Given the description of an element on the screen output the (x, y) to click on. 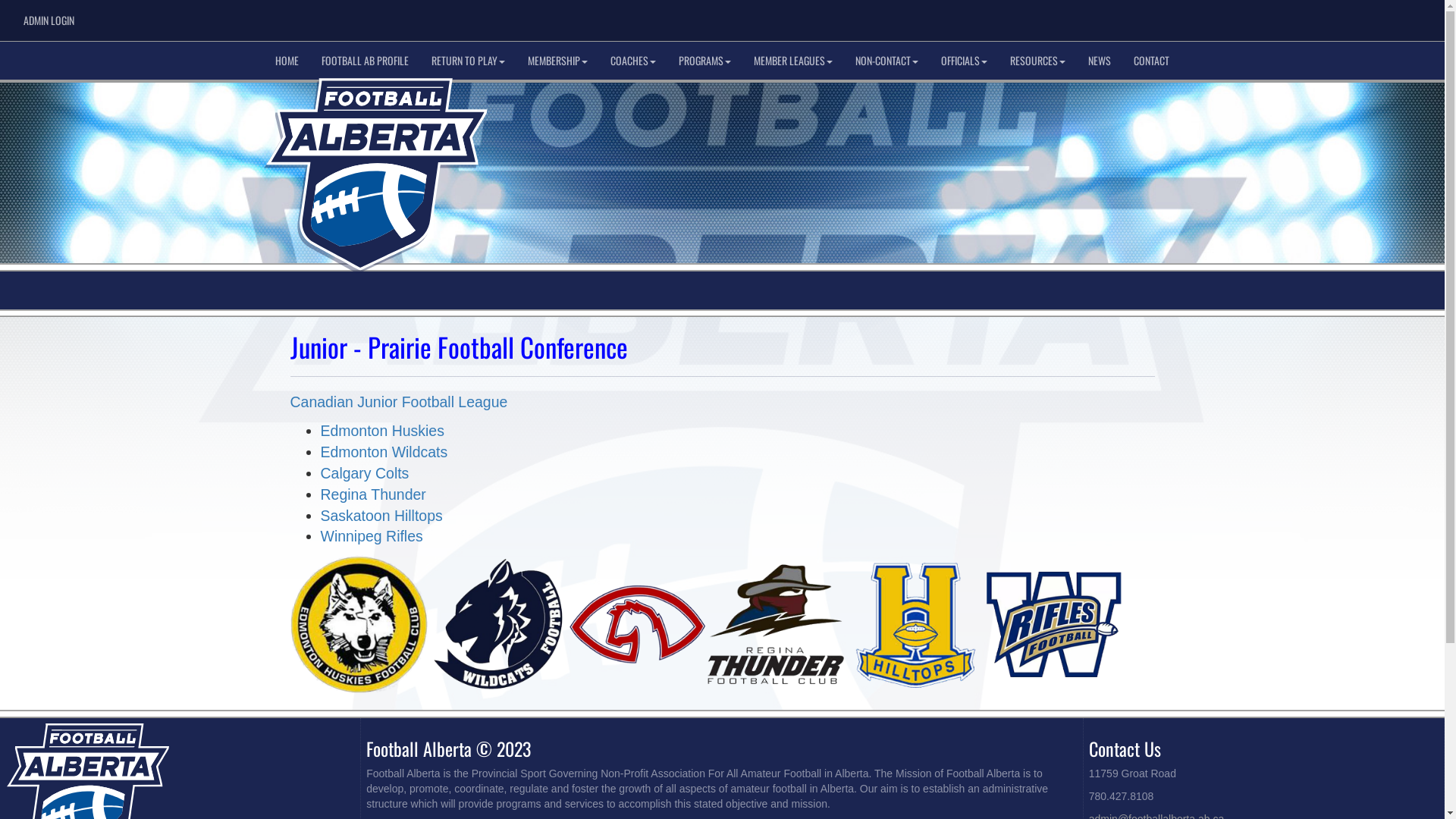
Twitter Element type: text (1389, 15)
Regina Thunder Element type: text (372, 494)
NON-CONTACT Element type: text (886, 60)
Youtube Element type: text (1366, 15)
Saskatoon Hilltops Element type: text (381, 515)
COACHES Element type: text (633, 60)
Edmonton Huskies Element type: text (381, 430)
Facebook Element type: text (1343, 15)
Calgary Colts Element type: text (364, 472)
OFFICIALS Element type: text (963, 60)
NEWS Element type: text (1099, 60)
MEMBER LEAGUES Element type: text (793, 60)
FOOTBALL AB PROFILE Element type: text (365, 60)
Edmonton Wildcats Element type: text (383, 451)
RESOURCES Element type: text (1037, 60)
RETURN TO PLAY Element type: text (468, 60)
CONTACT Element type: text (1151, 60)
Winnipeg Rifles Element type: text (371, 535)
Canadian Junior Football League Element type: text (398, 401)
HOME Element type: text (286, 60)
PROGRAMS Element type: text (704, 60)
MEMBERSHIP Element type: text (557, 60)
 ADMIN LOGIN
ADMIN LOGIN Element type: text (47, 20)
Instagram Element type: text (1411, 15)
